Given the description of an element on the screen output the (x, y) to click on. 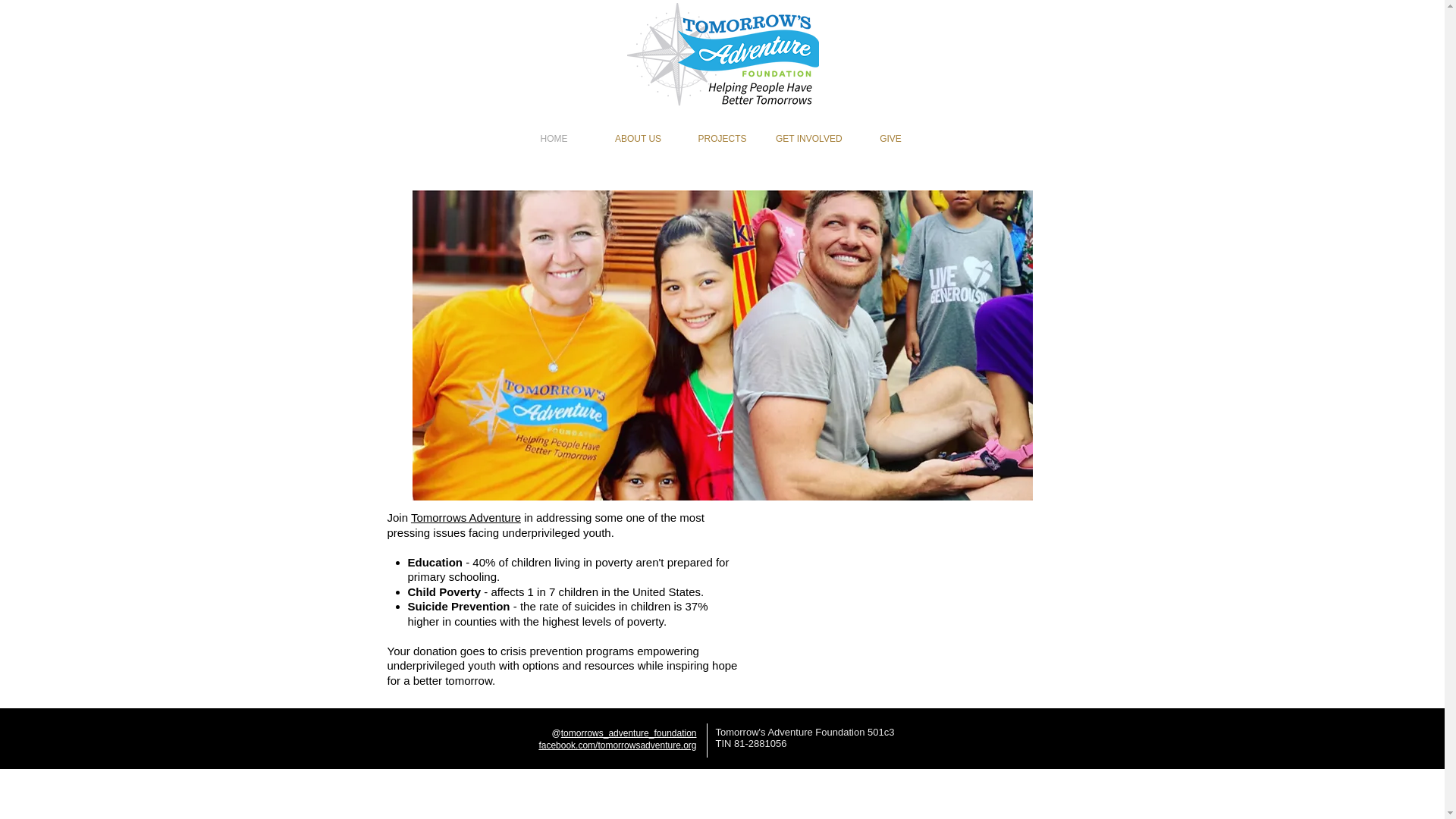
ABOUT US (637, 139)
HOME (553, 139)
Tomorrows Adventure (465, 517)
GET INVOLVED (806, 139)
Embedded Content (931, 598)
GIVE (890, 139)
PROJECTS (721, 139)
